Given the description of an element on the screen output the (x, y) to click on. 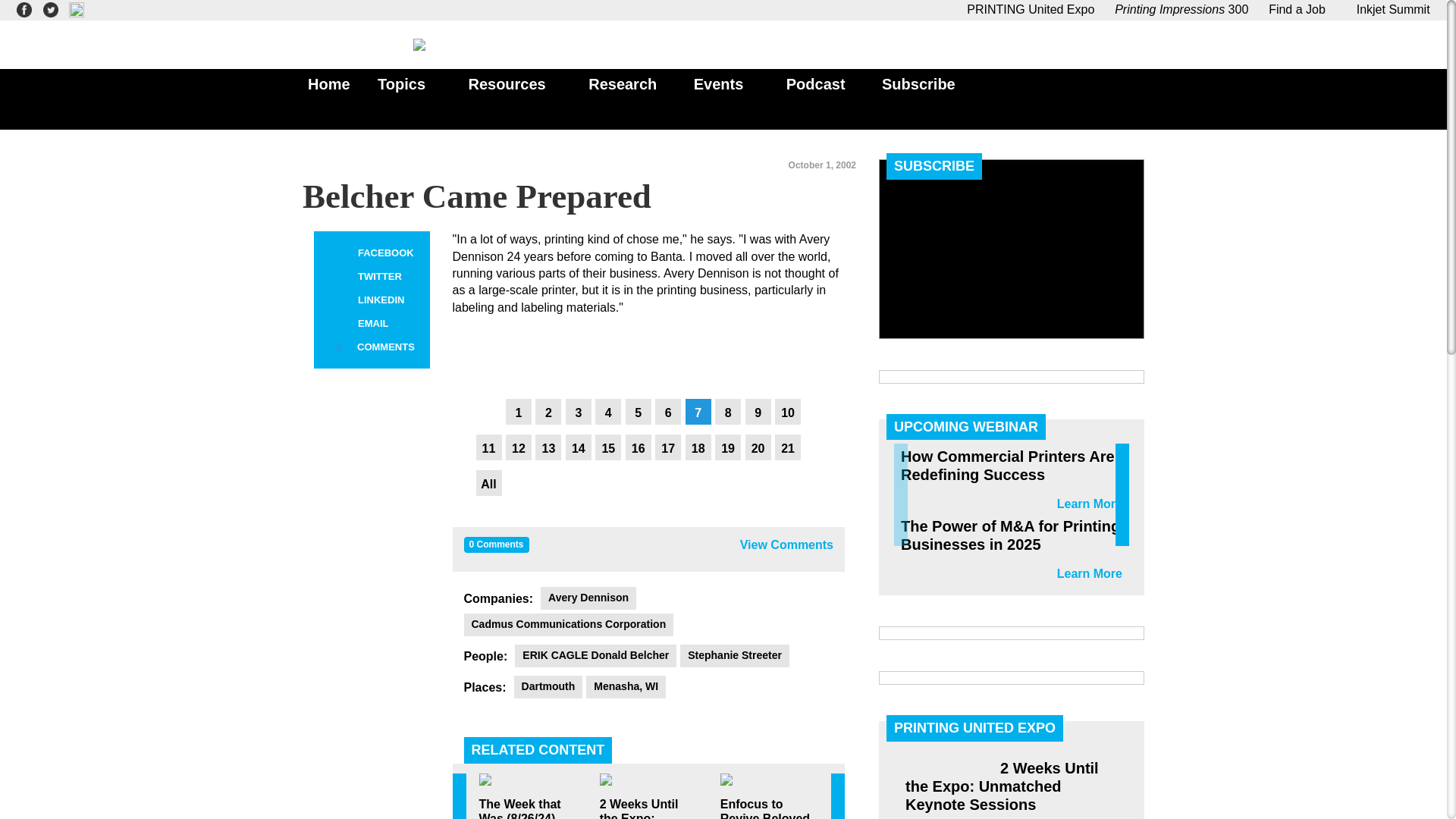
Topics (404, 83)
PRINTING United Expo (1030, 9)
Facebook (339, 252)
Home (324, 83)
LinkedIn (339, 300)
Find a Job (1296, 9)
Email Link (339, 323)
Printing Impressions 300 (1181, 9)
Twitter (339, 276)
Inkjet Summit (1387, 9)
